Given the description of an element on the screen output the (x, y) to click on. 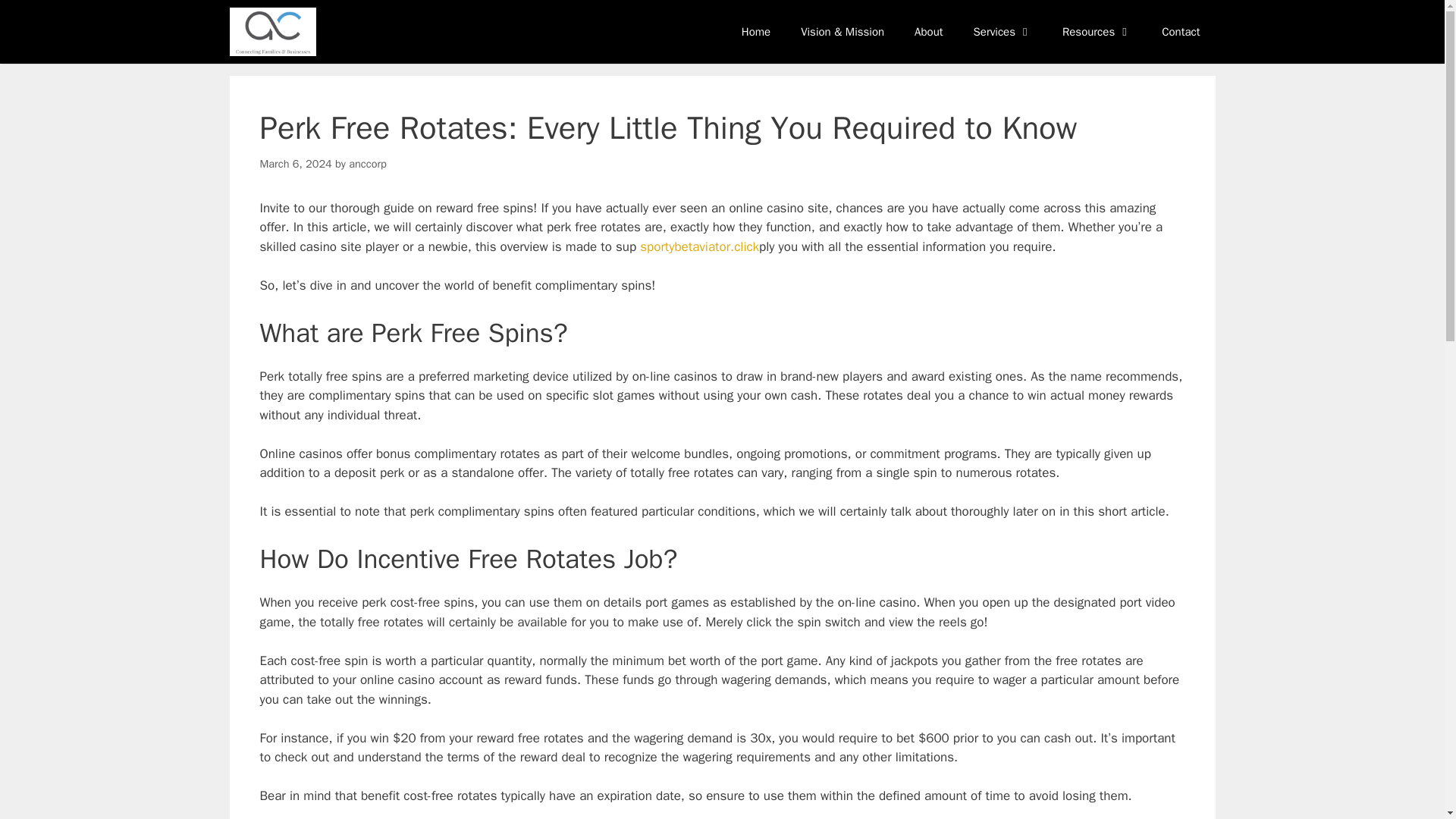
Resources (1096, 31)
Services (1002, 31)
Corporate Secretarial (272, 31)
Home (756, 31)
About (928, 31)
Contact (1180, 31)
View all posts by anccorp (368, 163)
